Given the description of an element on the screen output the (x, y) to click on. 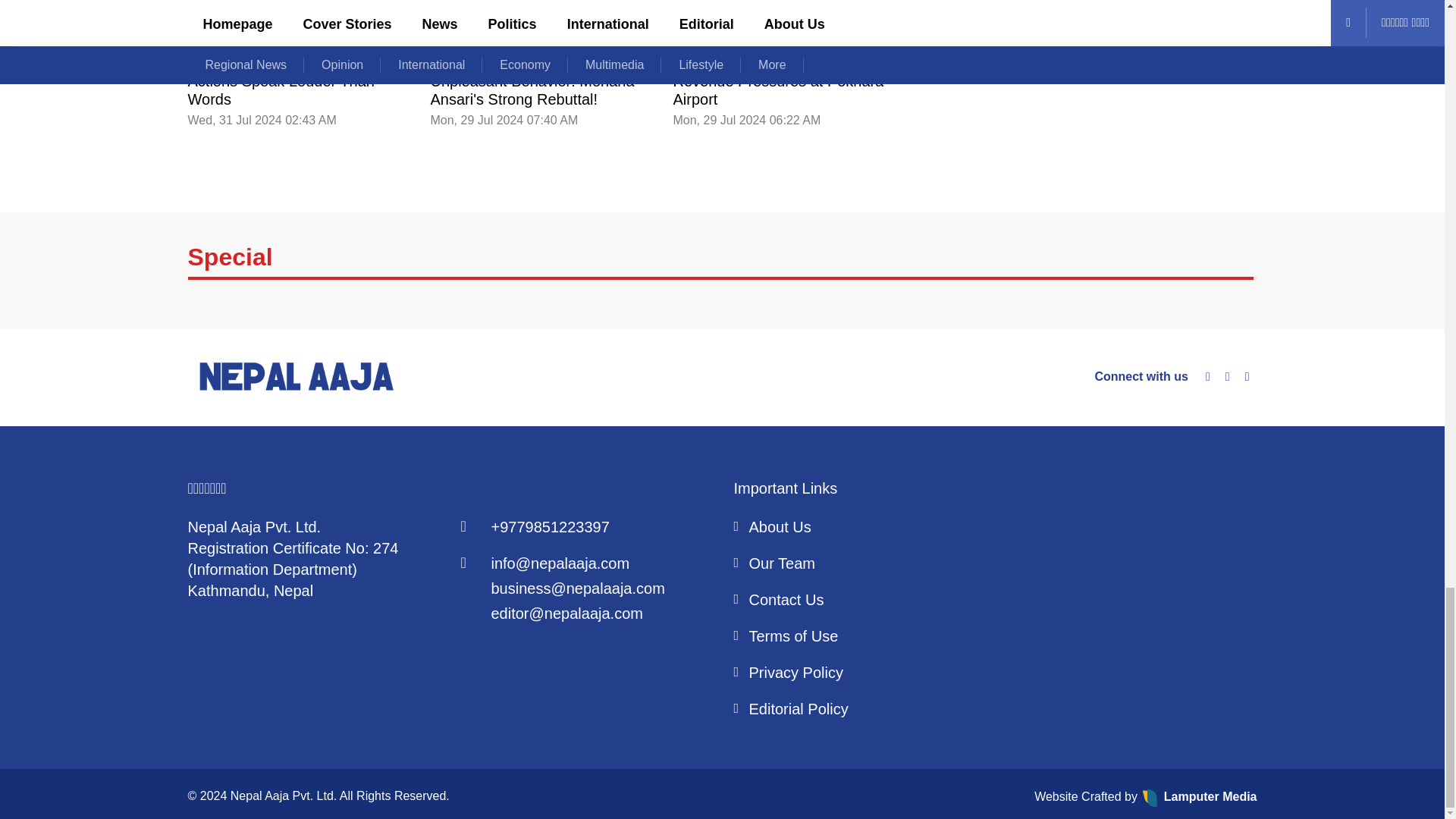
Mon, 29 Jul 2024 07:40 AM (503, 119)
Wed, 31 Jul 2024 02:43 AM (261, 119)
